Given the description of an element on the screen output the (x, y) to click on. 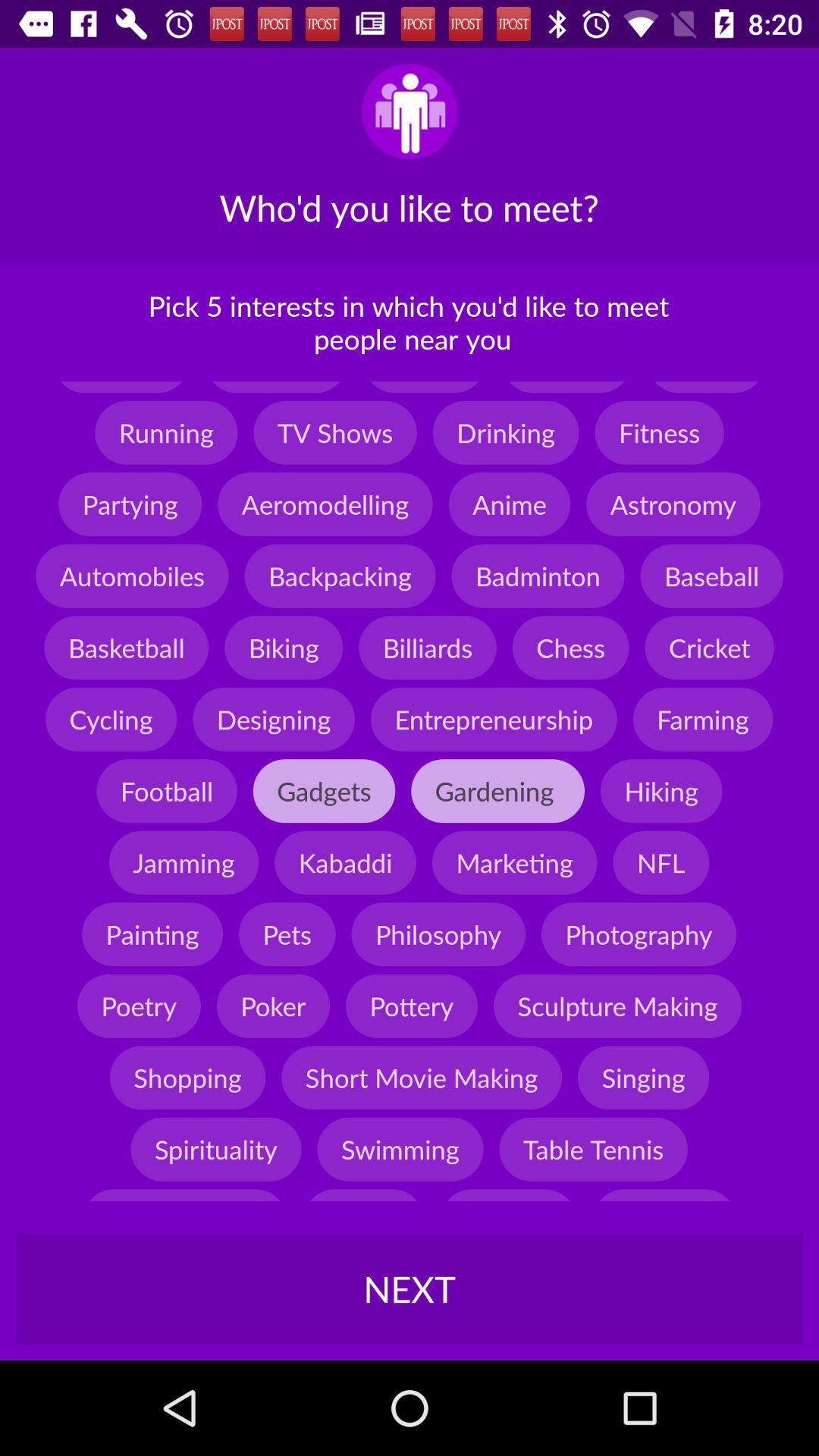
click on sculpture making above singing (617, 1006)
